Given the description of an element on the screen output the (x, y) to click on. 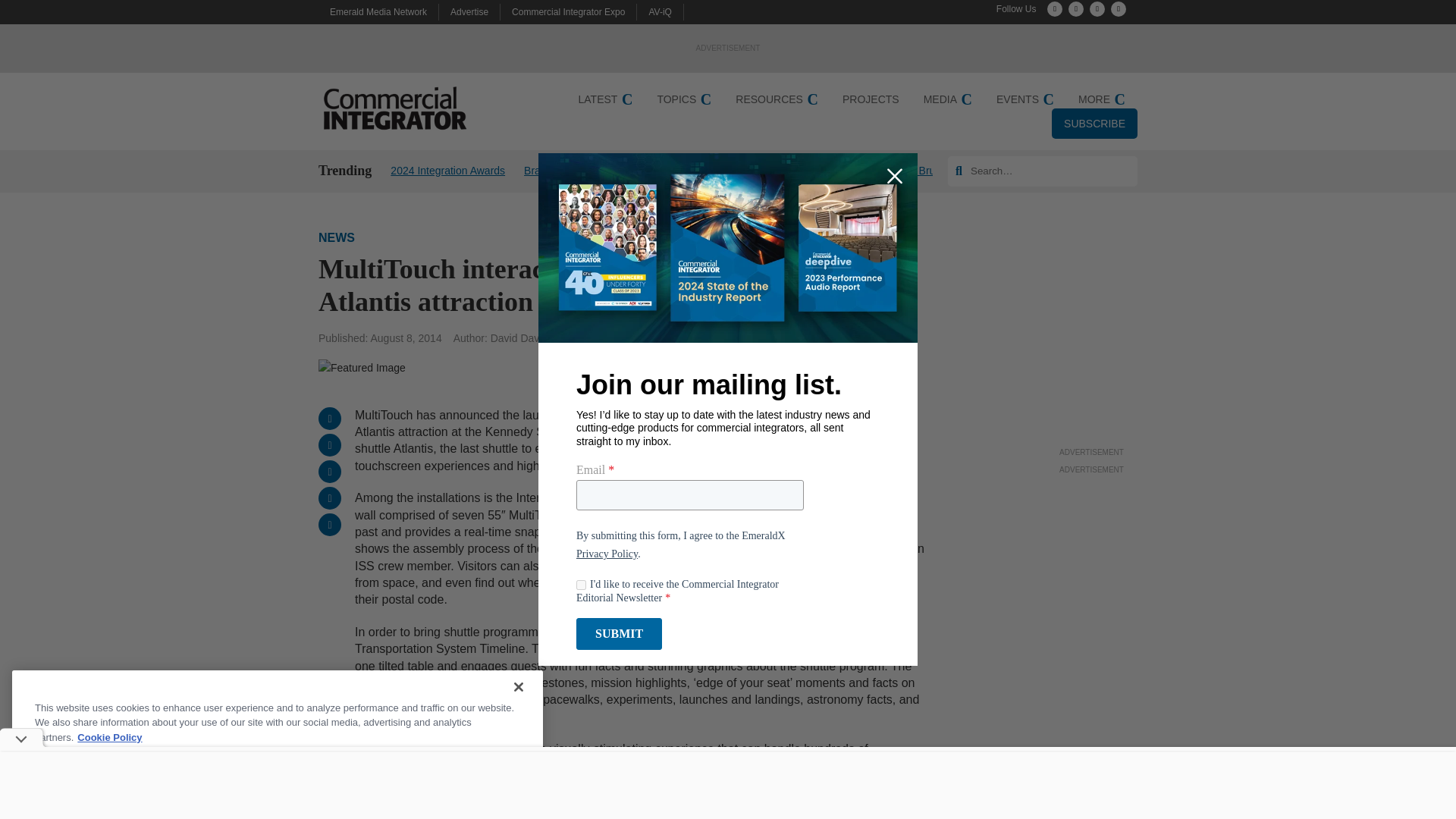
Follow on Facebook (1075, 8)
RESOURCES (776, 99)
Advertise (468, 11)
TOPICS (683, 99)
Follow on LinkedIn (1097, 8)
Commercial Integrator Expo (568, 11)
Emerald Media Network (378, 11)
3rd party ad content (1091, 348)
Follow on Youtube (1117, 8)
LATEST (605, 99)
AV-iQ (659, 11)
Follow on X (1054, 8)
